Given the description of an element on the screen output the (x, y) to click on. 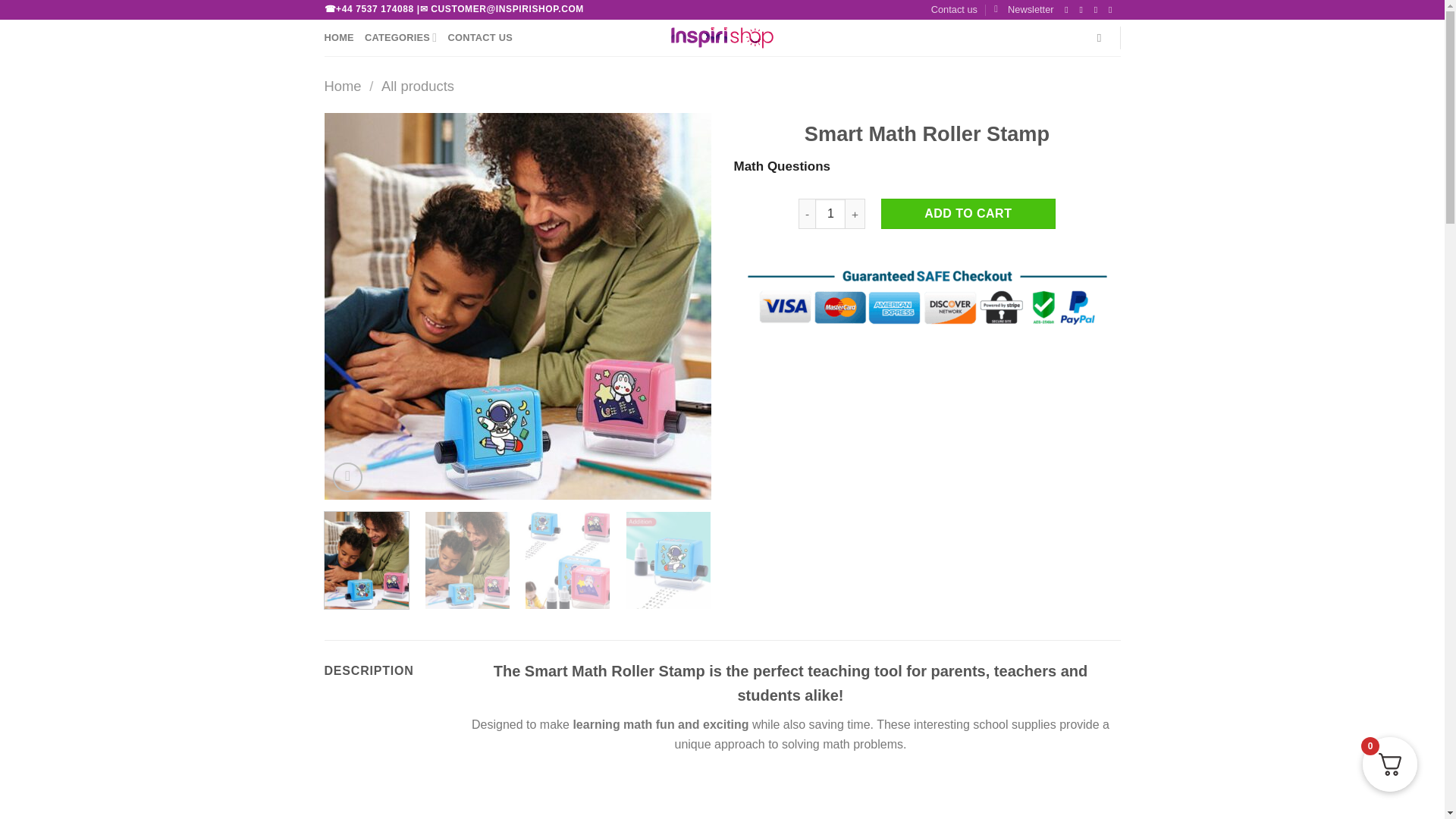
Newsletter (1023, 9)
Contact us (953, 9)
CONTACT US (479, 37)
Zoom (347, 477)
Sign up for Newsletter (1023, 9)
HOME (338, 37)
1 (830, 214)
CATEGORIES (401, 37)
Inspirishop - Your Store For Everthing COOL (722, 37)
Home (342, 85)
All products (417, 85)
